Given the description of an element on the screen output the (x, y) to click on. 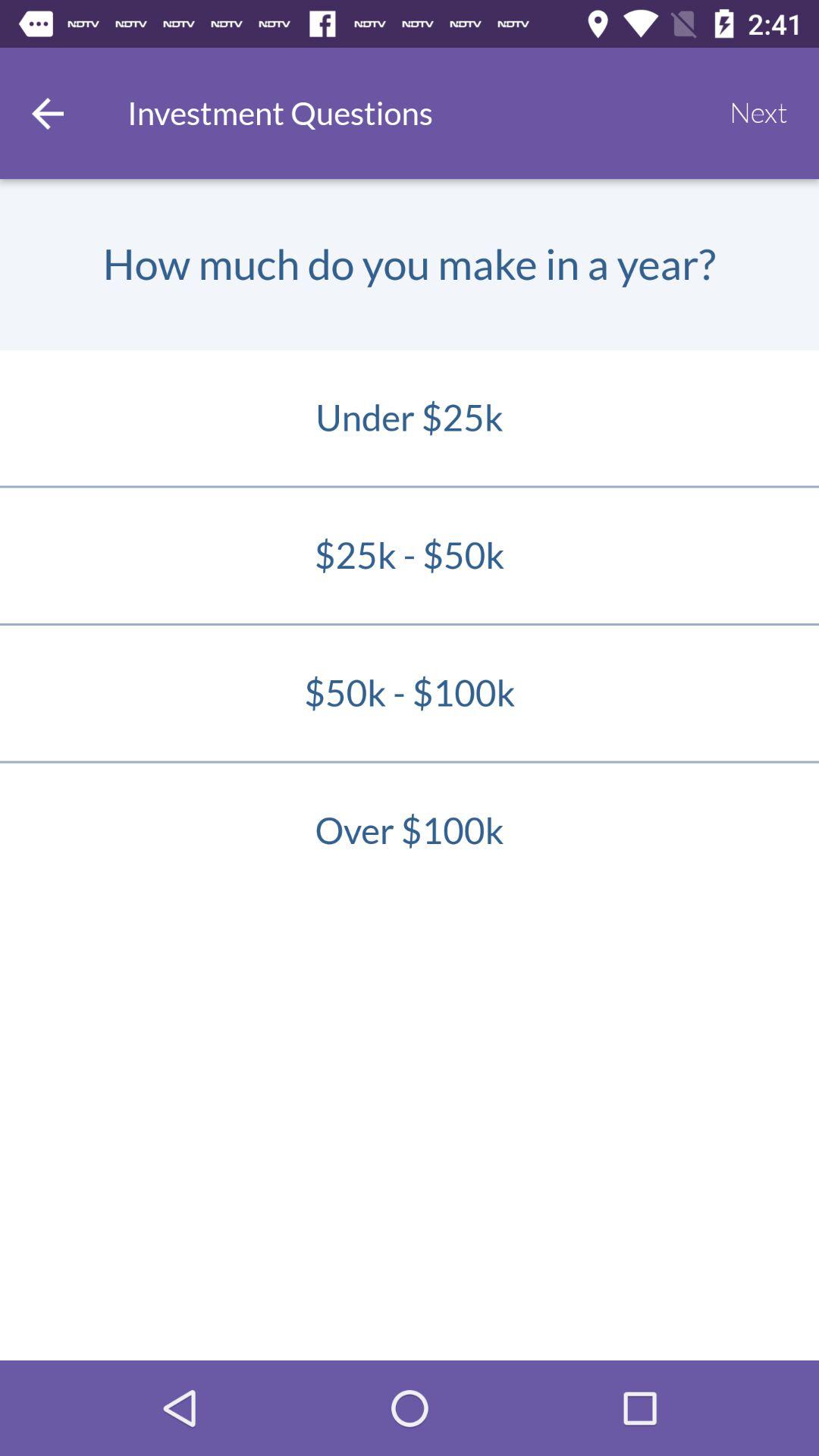
choose next (758, 113)
